Given the description of an element on the screen output the (x, y) to click on. 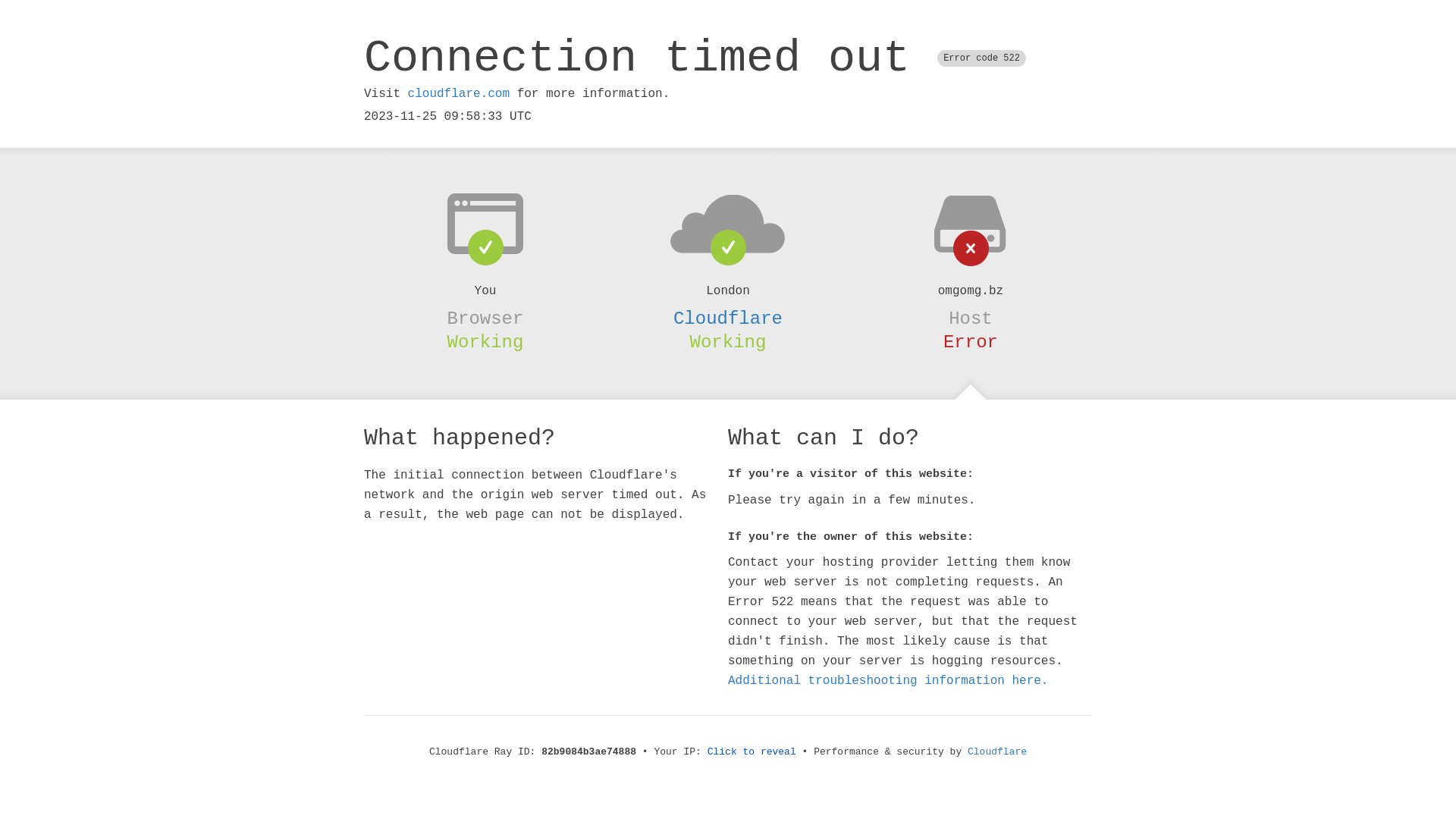
Cloudflare Element type: text (727, 318)
Additional troubleshooting information here. Element type: text (888, 680)
cloudflare.com Element type: text (458, 93)
Cloudflare Element type: text (996, 751)
Click to reveal Element type: text (751, 751)
